Given the description of an element on the screen output the (x, y) to click on. 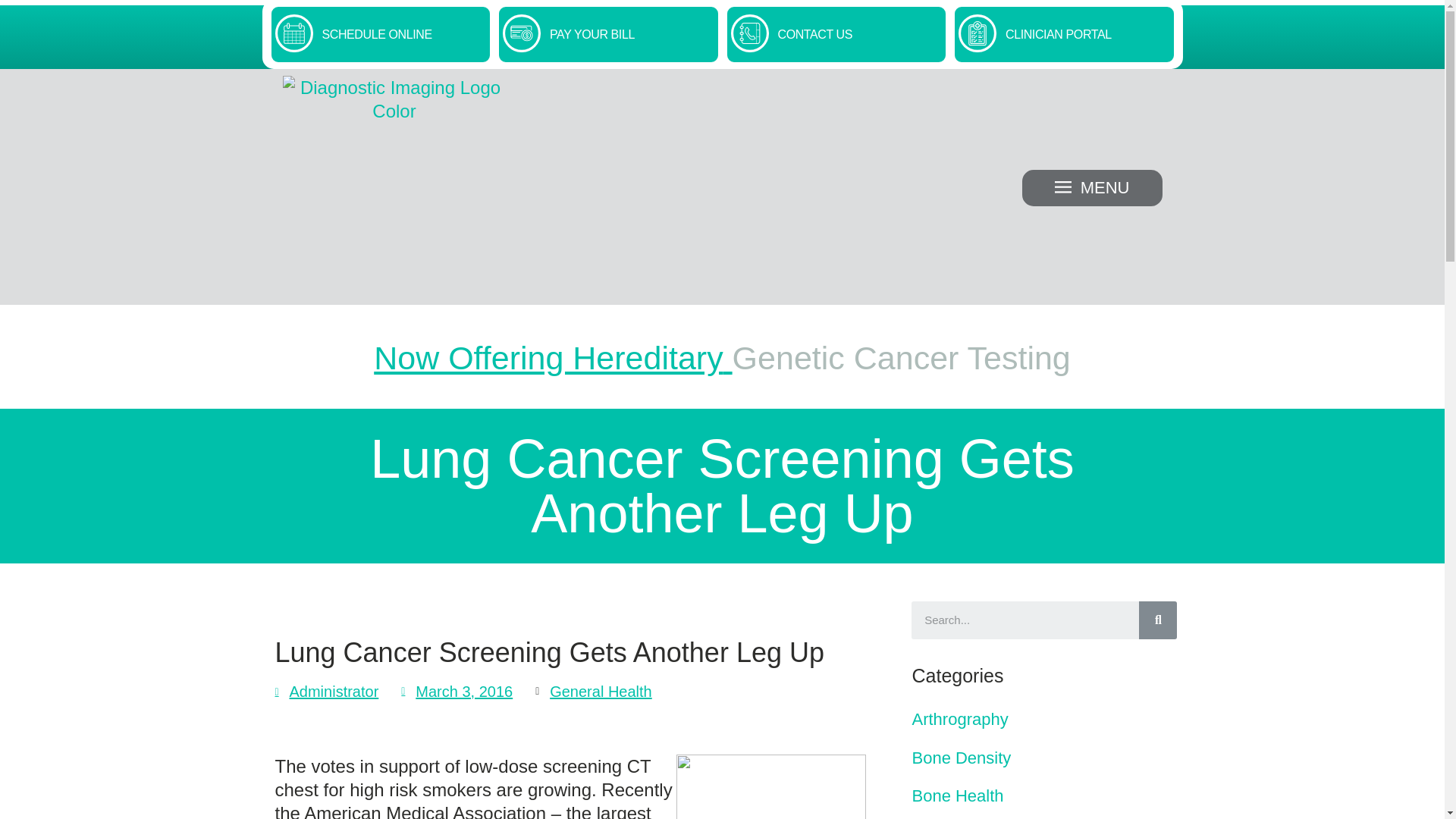
Search (1157, 620)
Search (1024, 620)
